Given the description of an element on the screen output the (x, y) to click on. 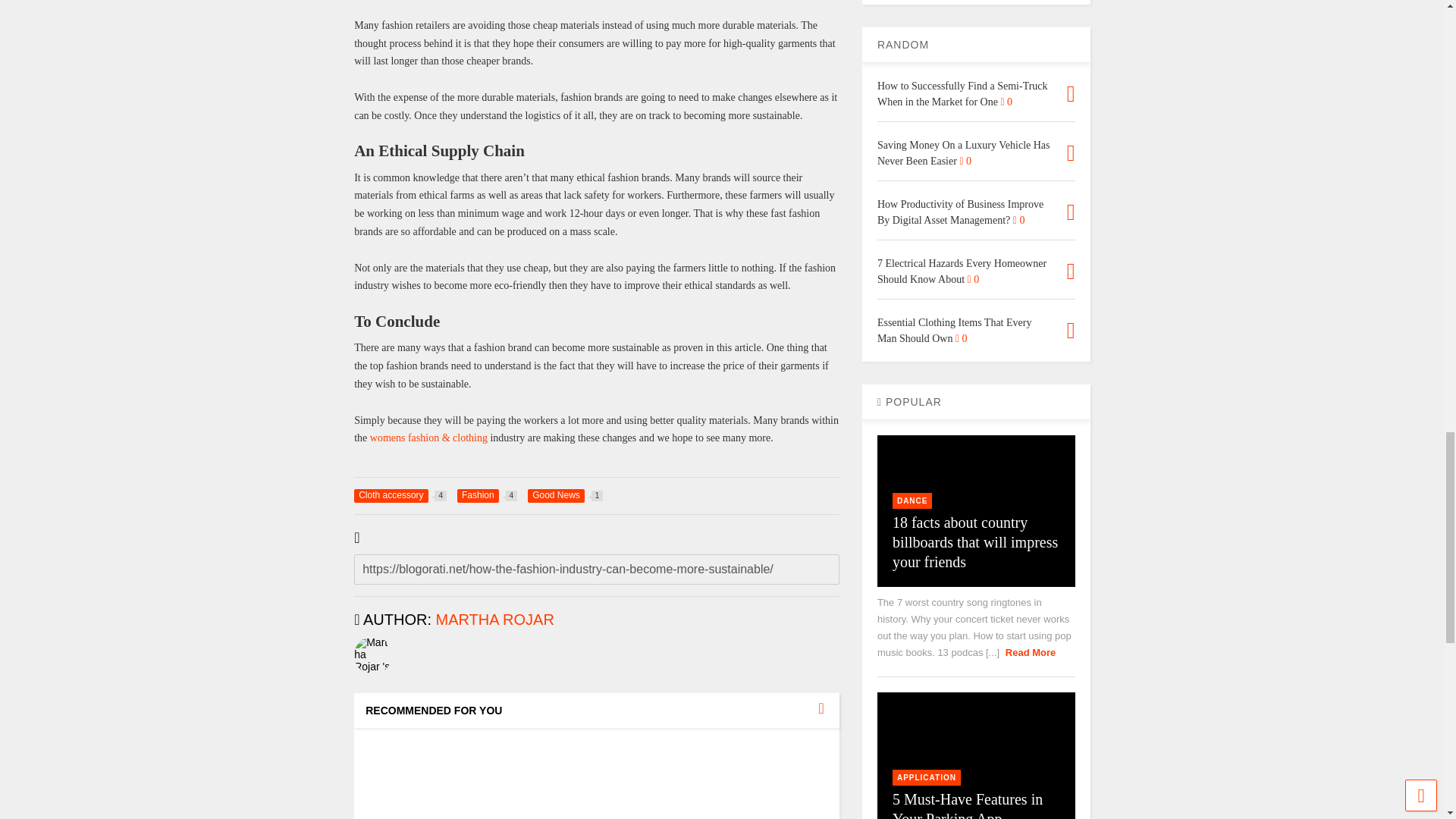
author profile (494, 619)
